Given the description of an element on the screen output the (x, y) to click on. 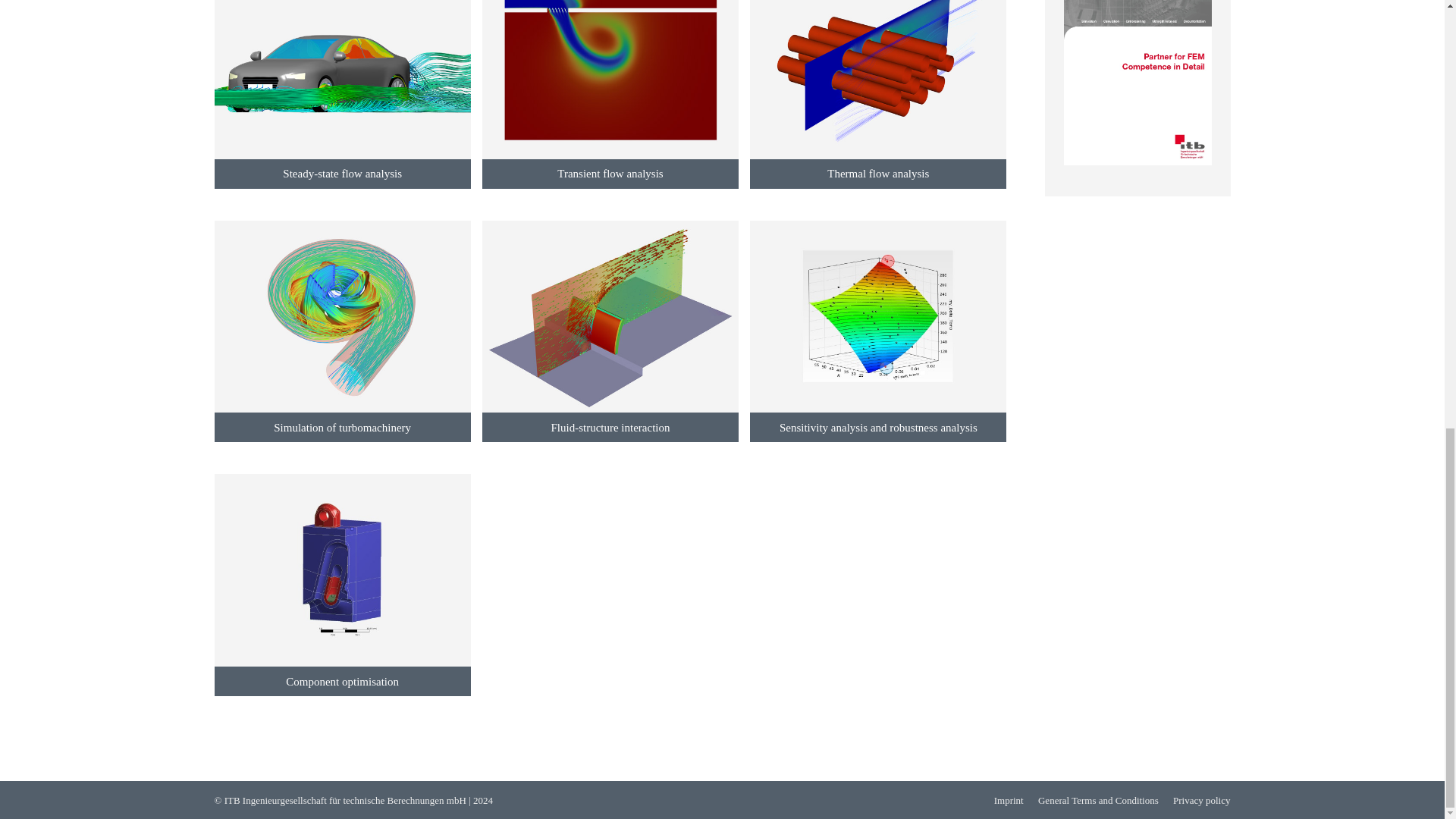
Steady-state flow analysis (342, 94)
Thermal flow analysis (877, 94)
Fluid-structure interaction (609, 331)
Sensitivity analysis and robustness analysis (877, 331)
Rotating machines (342, 331)
Component optimisation (342, 585)
Transient flow analyis (609, 94)
